Given the description of an element on the screen output the (x, y) to click on. 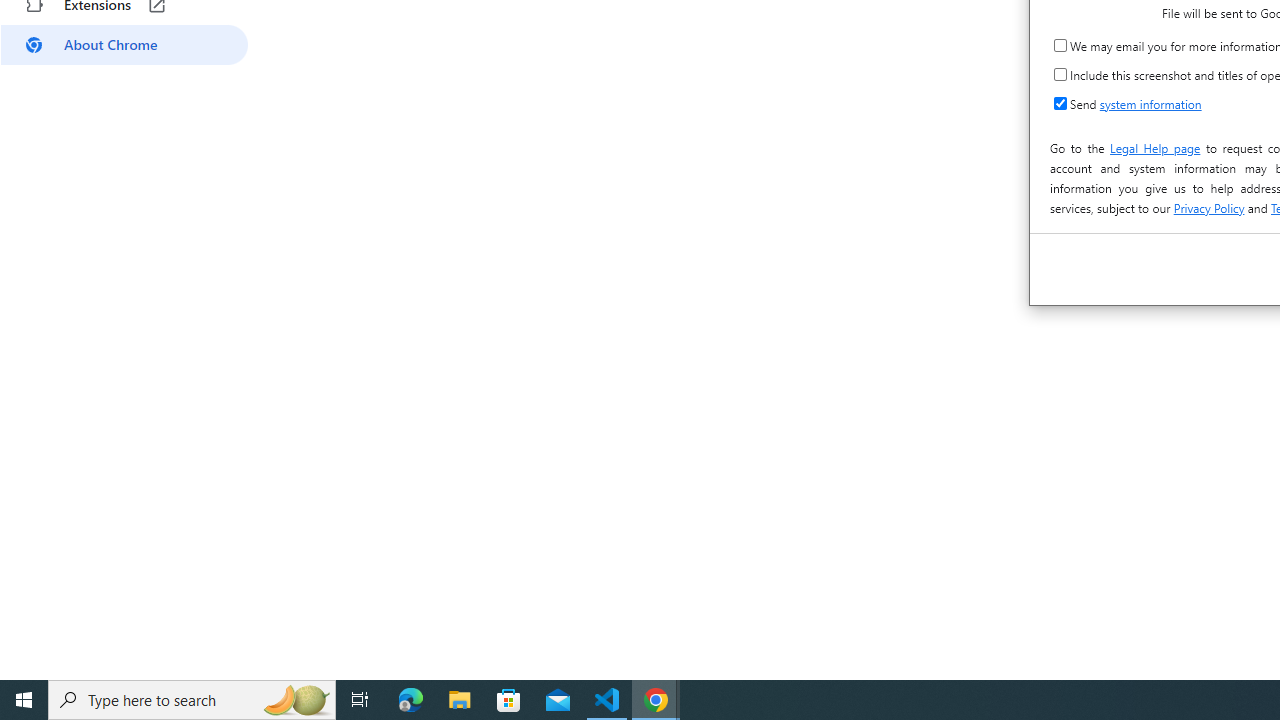
Legal Help page (1154, 147)
Visual Studio Code - 1 running window (607, 699)
About Chrome (124, 44)
